Given the description of an element on the screen output the (x, y) to click on. 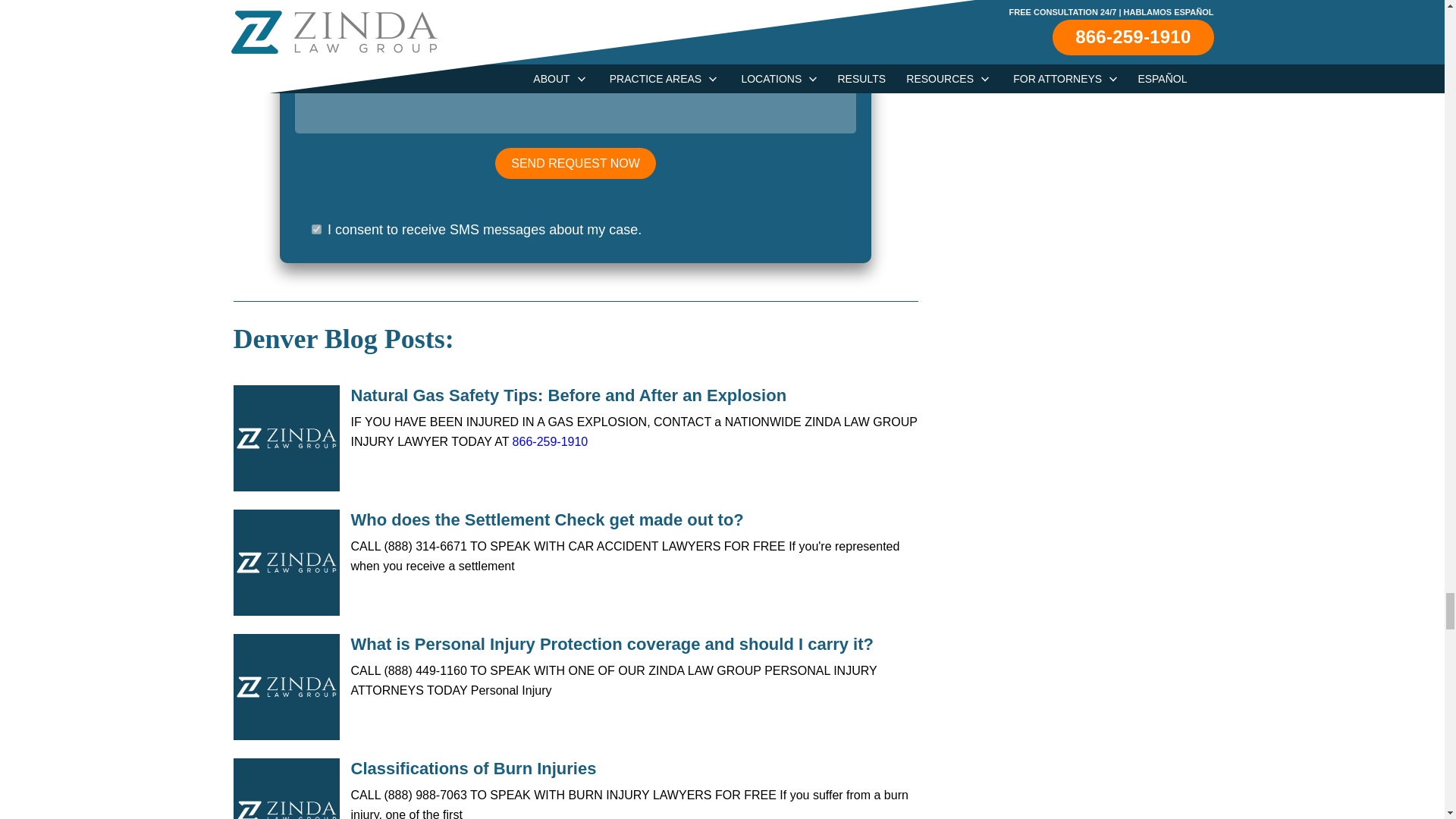
1 (316, 229)
Send Request Now (575, 163)
